Given the description of an element on the screen output the (x, y) to click on. 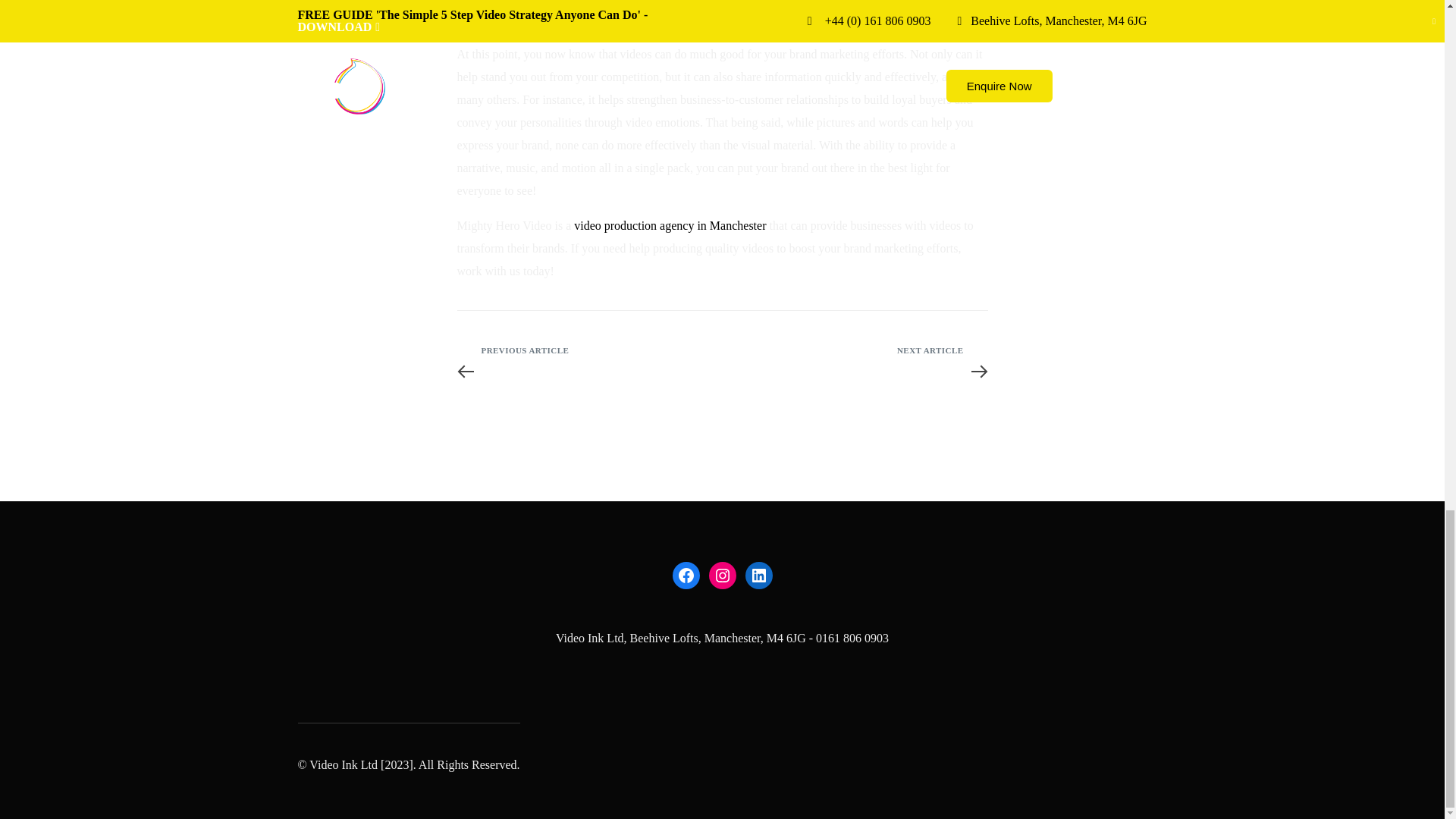
Why Video Content Is Perfect for Social Media Marketing (853, 379)
video production agency in Manchester (669, 225)
3 Types of Useful Video Content for Social Media Marketing (588, 379)
